Given the description of an element on the screen output the (x, y) to click on. 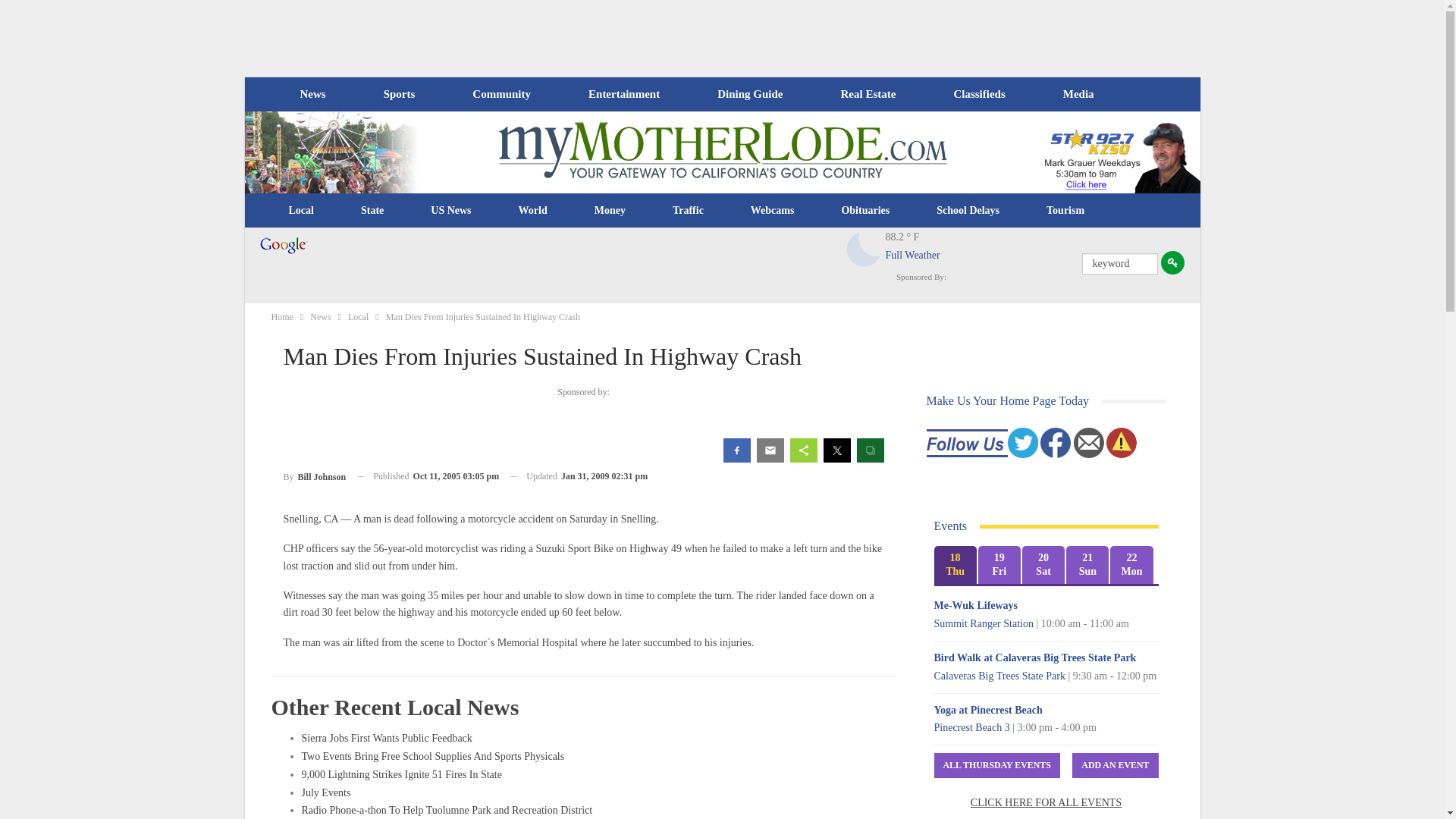
Community (501, 93)
Tourism (1065, 210)
US News (451, 210)
State (372, 210)
Local (300, 210)
Obituaries (865, 210)
Sports (399, 93)
All Thursday Events (996, 765)
Browse Author Articles (314, 476)
Media (1078, 93)
Real Estate (868, 93)
Entertainment (624, 93)
